Given the description of an element on the screen output the (x, y) to click on. 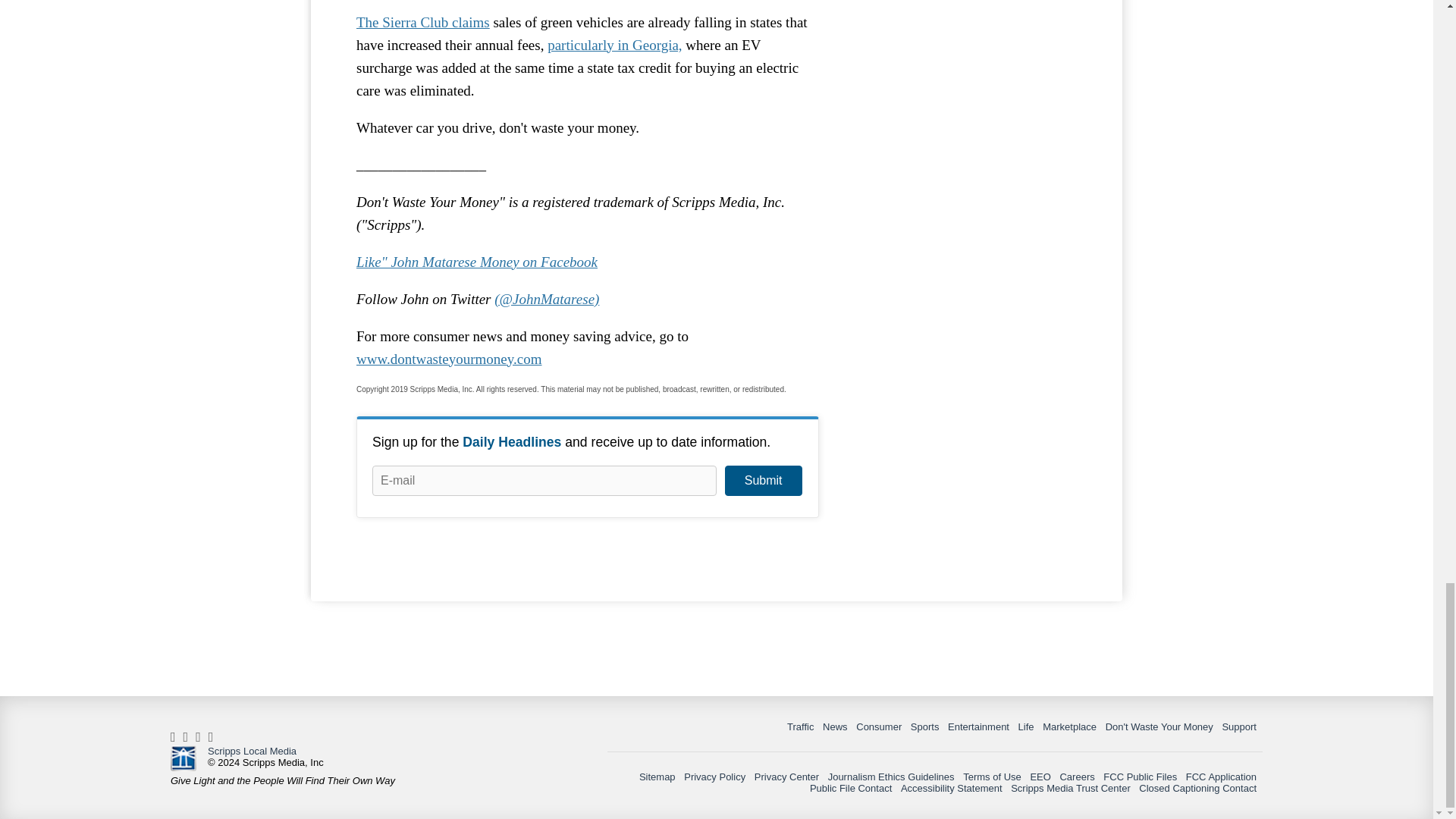
Submit (763, 481)
